Given the description of an element on the screen output the (x, y) to click on. 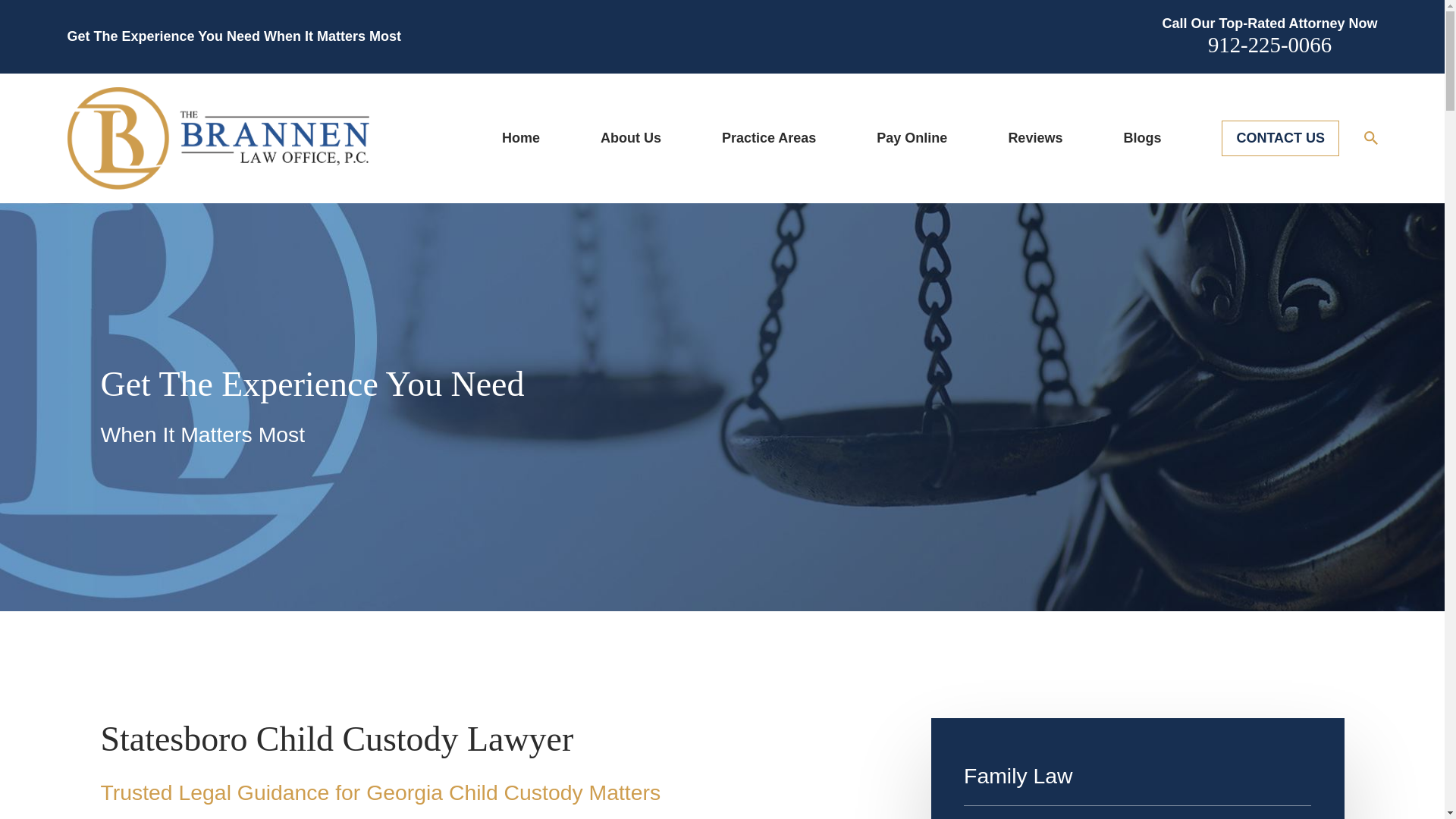
About Us (630, 137)
Home (217, 137)
Reviews (1034, 137)
Pay Online (911, 137)
Practice Areas (768, 137)
CONTACT US (1280, 138)
912-225-0066 (1270, 44)
